Given the description of an element on the screen output the (x, y) to click on. 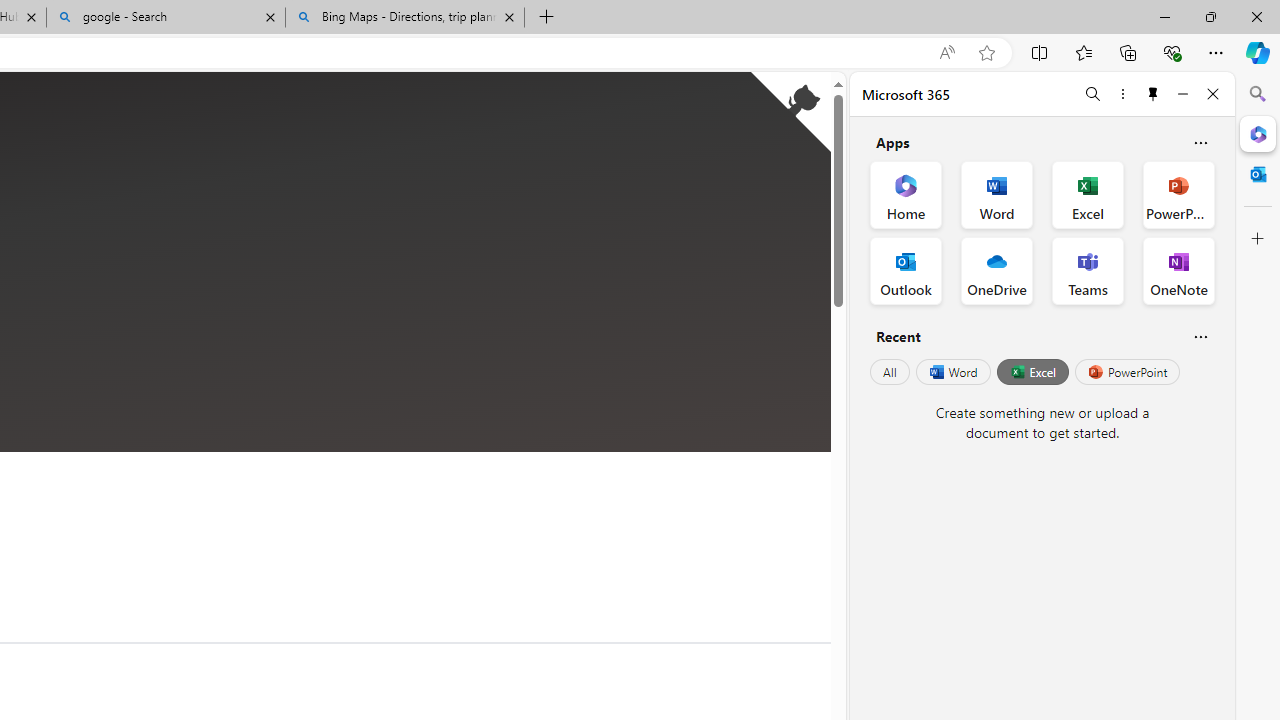
Word Office App (996, 194)
Outlook Office App (906, 270)
OneNote Office App (1178, 270)
Unpin side pane (1153, 93)
All (890, 372)
Excel (1031, 372)
